Given the description of an element on the screen output the (x, y) to click on. 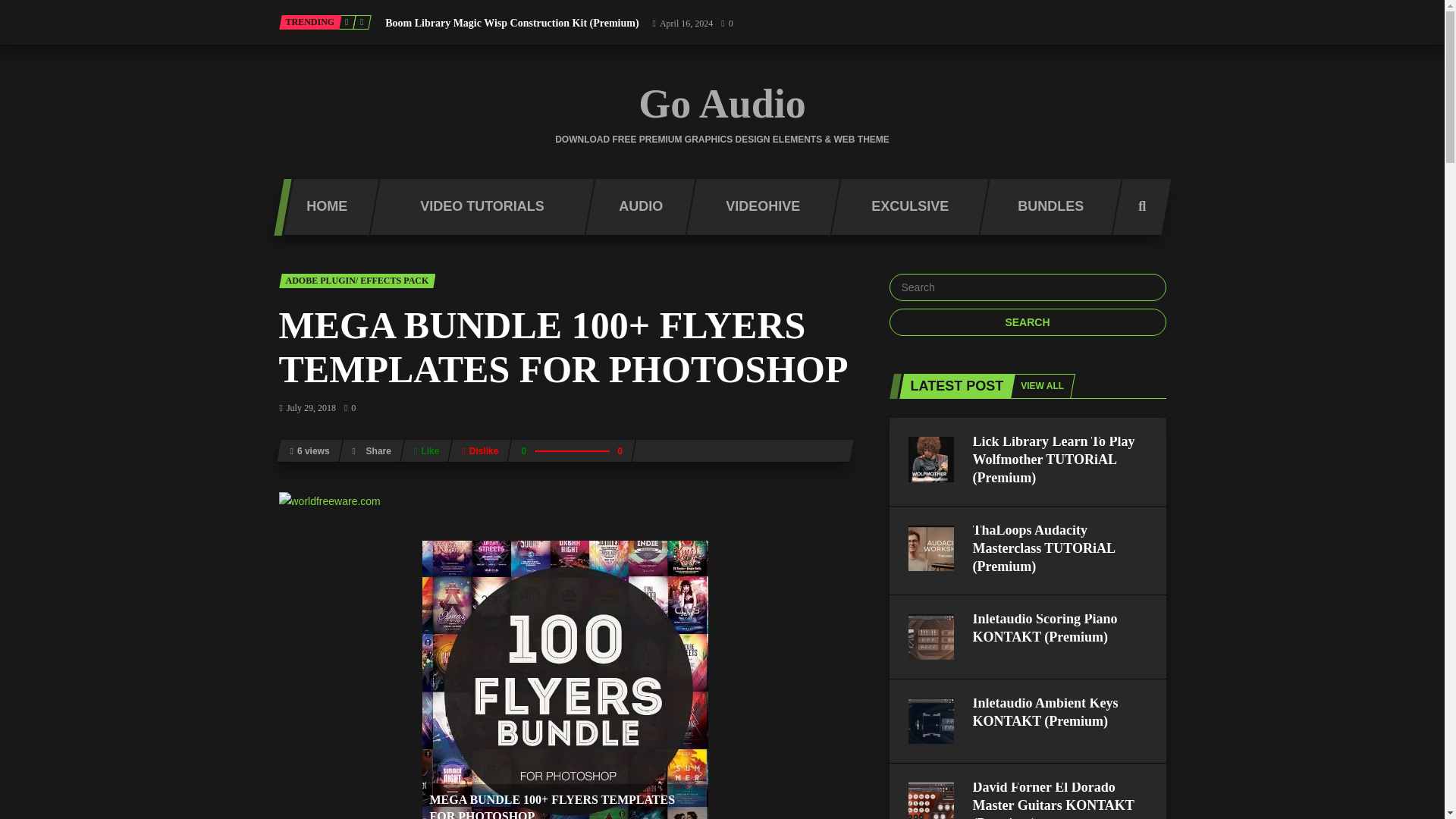
Go Audio (722, 103)
0 (349, 407)
VIDEO TUTORIALS (475, 207)
Search (1027, 321)
0 (726, 23)
Audio (634, 207)
Home (320, 207)
Video Tutorials (475, 207)
HOME (320, 207)
Bundles (1044, 207)
AUDIO (634, 207)
BUNDLES (1044, 207)
VIDEOHIVE (757, 207)
TRENDING (310, 22)
EXCULSIVE (903, 207)
